Given the description of an element on the screen output the (x, y) to click on. 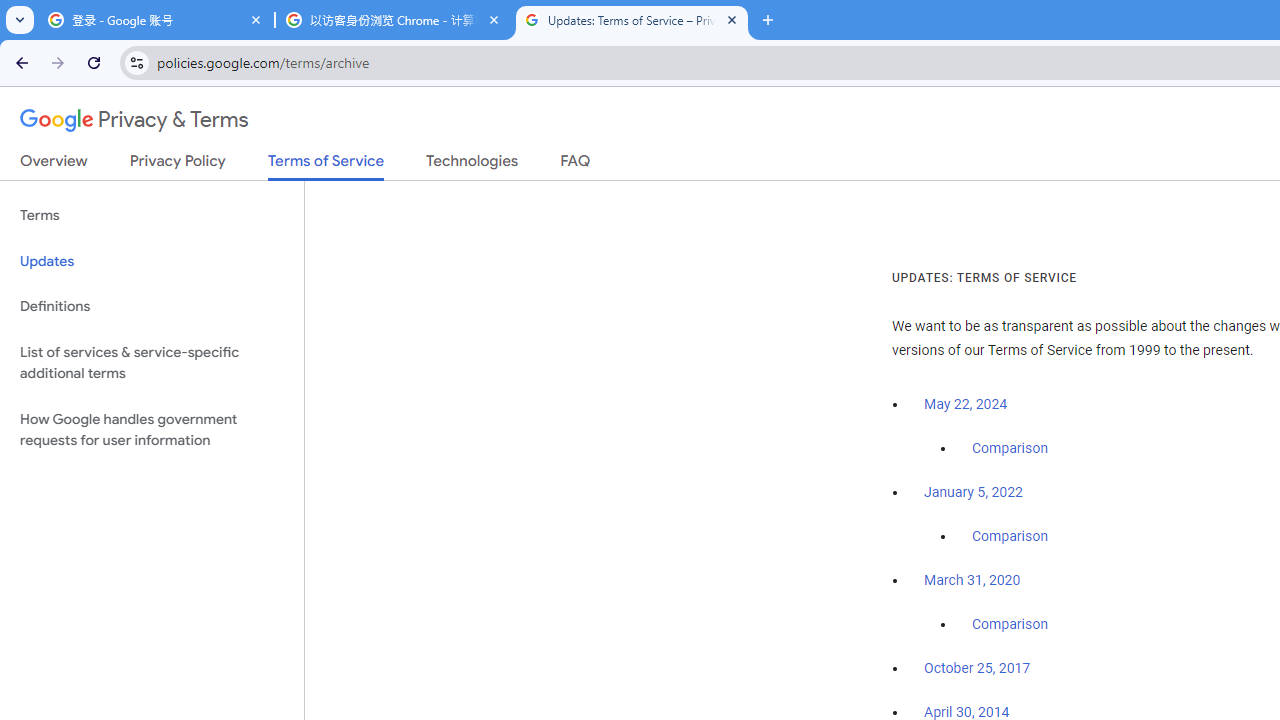
Definitions (152, 306)
How Google handles government requests for user information (152, 429)
Comparison (1009, 625)
